Given the description of an element on the screen output the (x, y) to click on. 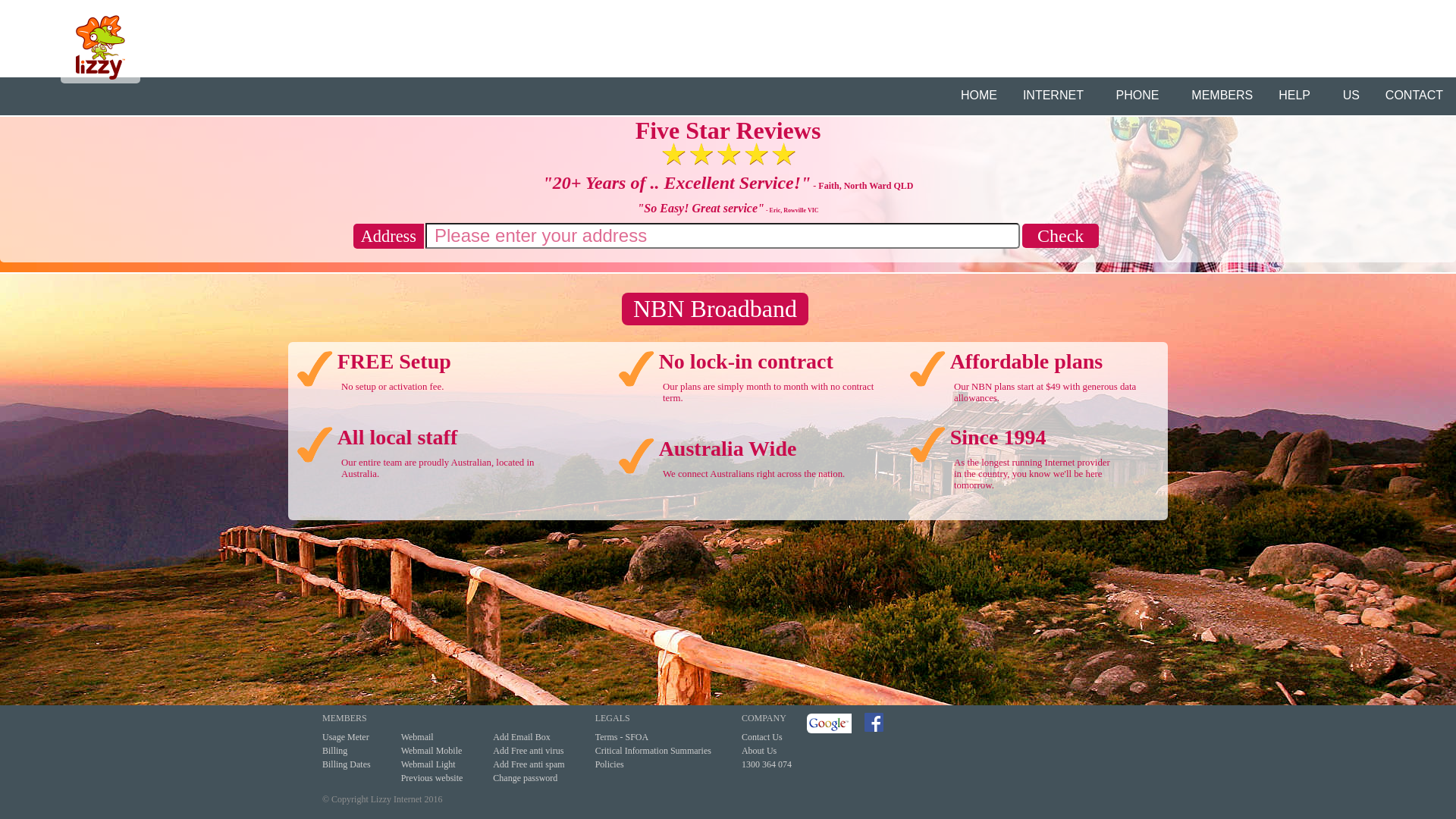
Add Free anti virus Element type: text (527, 750)
Policies Element type: text (609, 764)
Contact Us Element type: text (761, 736)
HOME Element type: text (978, 95)
CONTACT Element type: text (1414, 95)
Terms - SFOA Element type: text (622, 736)
Add Free anti spam Element type: text (528, 764)
Webmail Element type: text (417, 736)
About Us Element type: text (758, 750)
Check Element type: text (1064, 237)
Usage Meter Element type: text (345, 736)
Webmail Light Element type: text (428, 764)
Billing Dates Element type: text (346, 764)
INTERNET   Element type: text (1056, 95)
MEMBERS Element type: text (1221, 95)
Add Email Box Element type: text (520, 736)
US Element type: text (1351, 95)
Webmail Mobile Element type: text (431, 750)
Billing Element type: text (334, 750)
PHONE   Element type: text (1140, 95)
Previous website Element type: text (432, 777)
Change password Element type: text (524, 777)
HELP   Element type: text (1297, 95)
Critical Information Summaries Element type: text (653, 750)
